Given the description of an element on the screen output the (x, y) to click on. 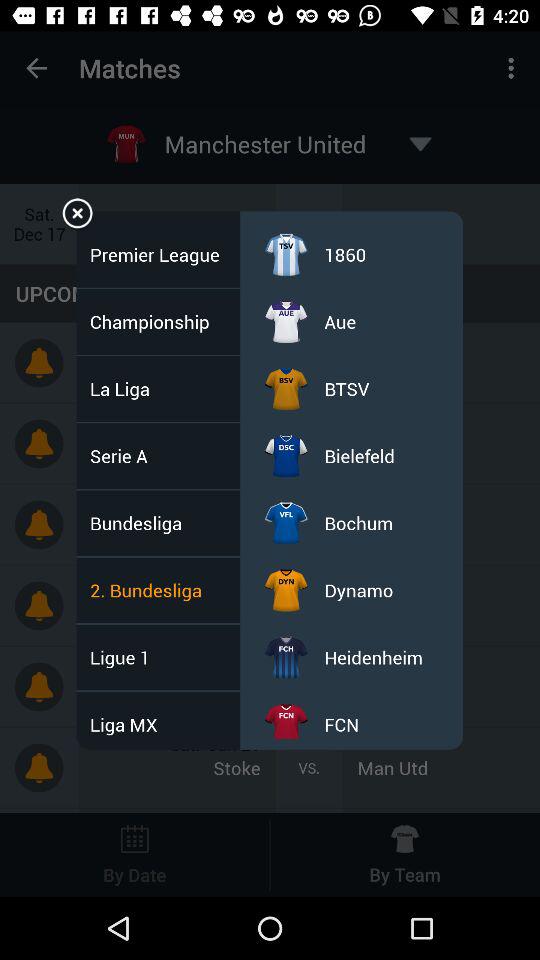
flip until the ligue 1 (126, 657)
